Given the description of an element on the screen output the (x, y) to click on. 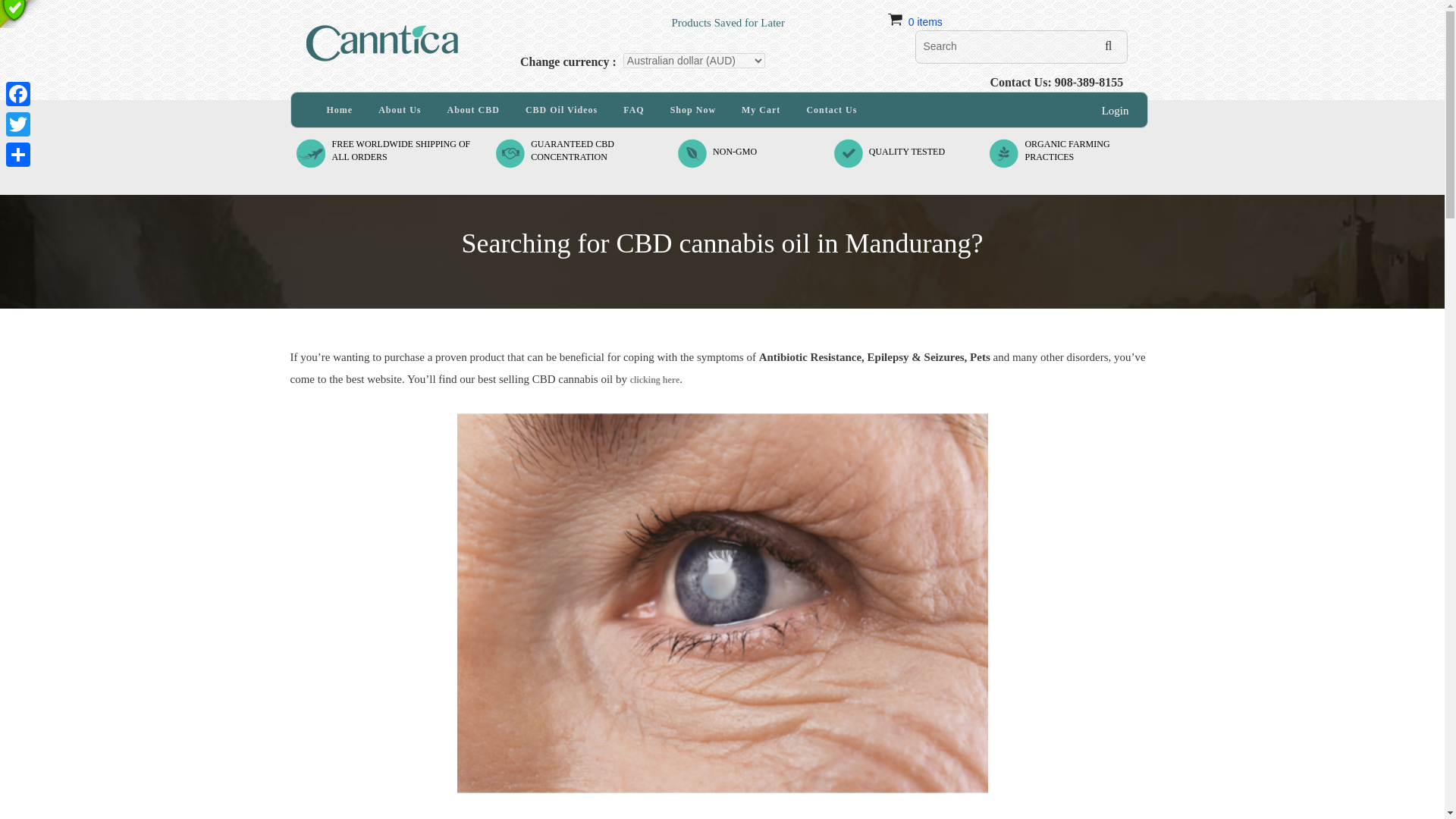
Shop Now (693, 109)
My Cart (761, 109)
QUALITY TESTED (906, 151)
CBD Oil Videos (561, 109)
Products Saved for Later (648, 14)
Facebook (1067, 150)
FREE WORLDWIDE SHIPPING OF ALL ORDERS (17, 93)
About CBD (400, 150)
About Us (472, 109)
